Given the description of an element on the screen output the (x, y) to click on. 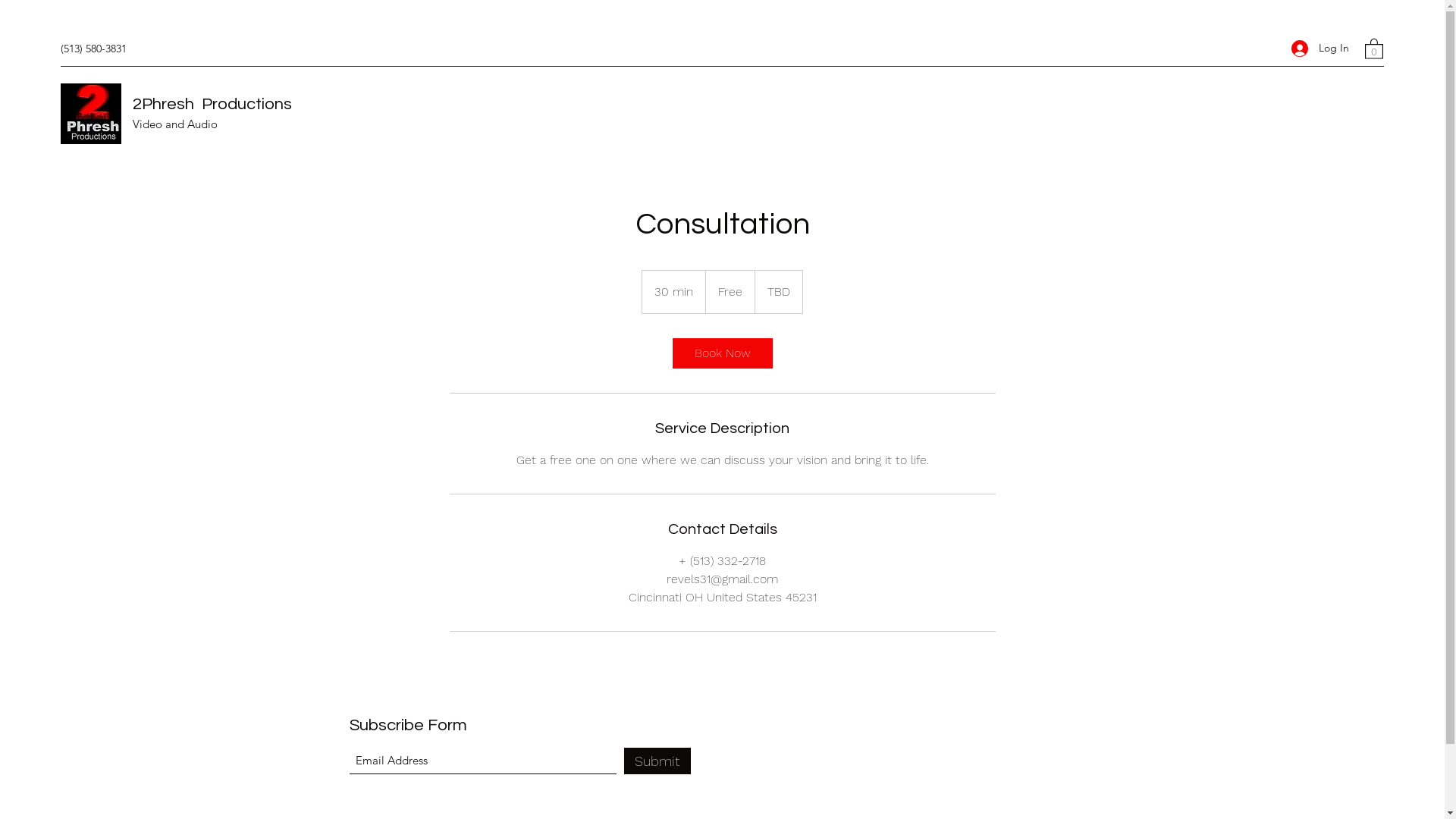
V Element type: text (135, 123)
Book Now Element type: text (721, 353)
Log In Element type: text (1319, 48)
Submit Element type: text (656, 760)
0 Element type: text (1374, 48)
2Phresh  Production Element type: text (207, 103)
